Given the description of an element on the screen output the (x, y) to click on. 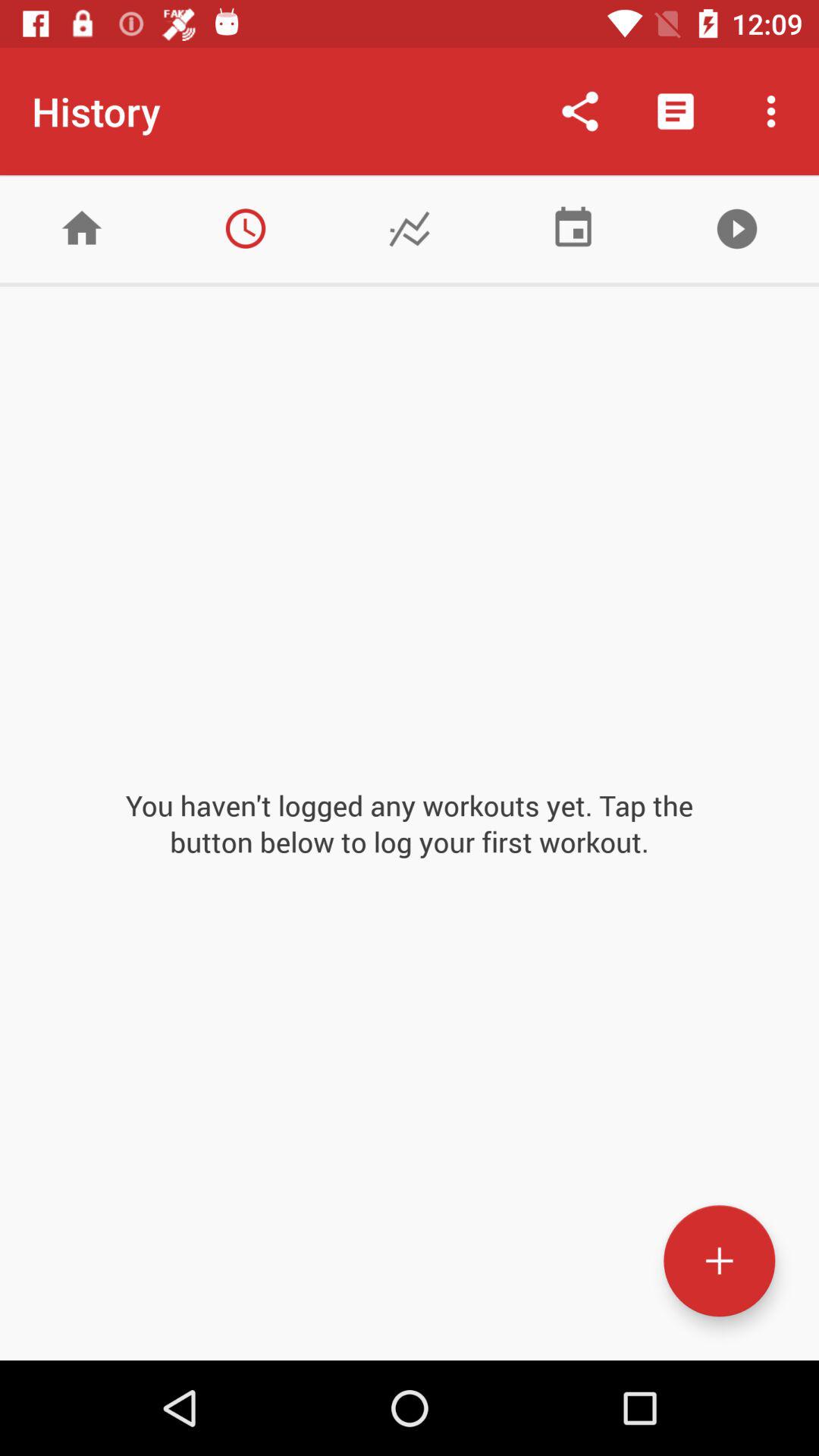
press the app to the right of the history app (579, 111)
